Given the description of an element on the screen output the (x, y) to click on. 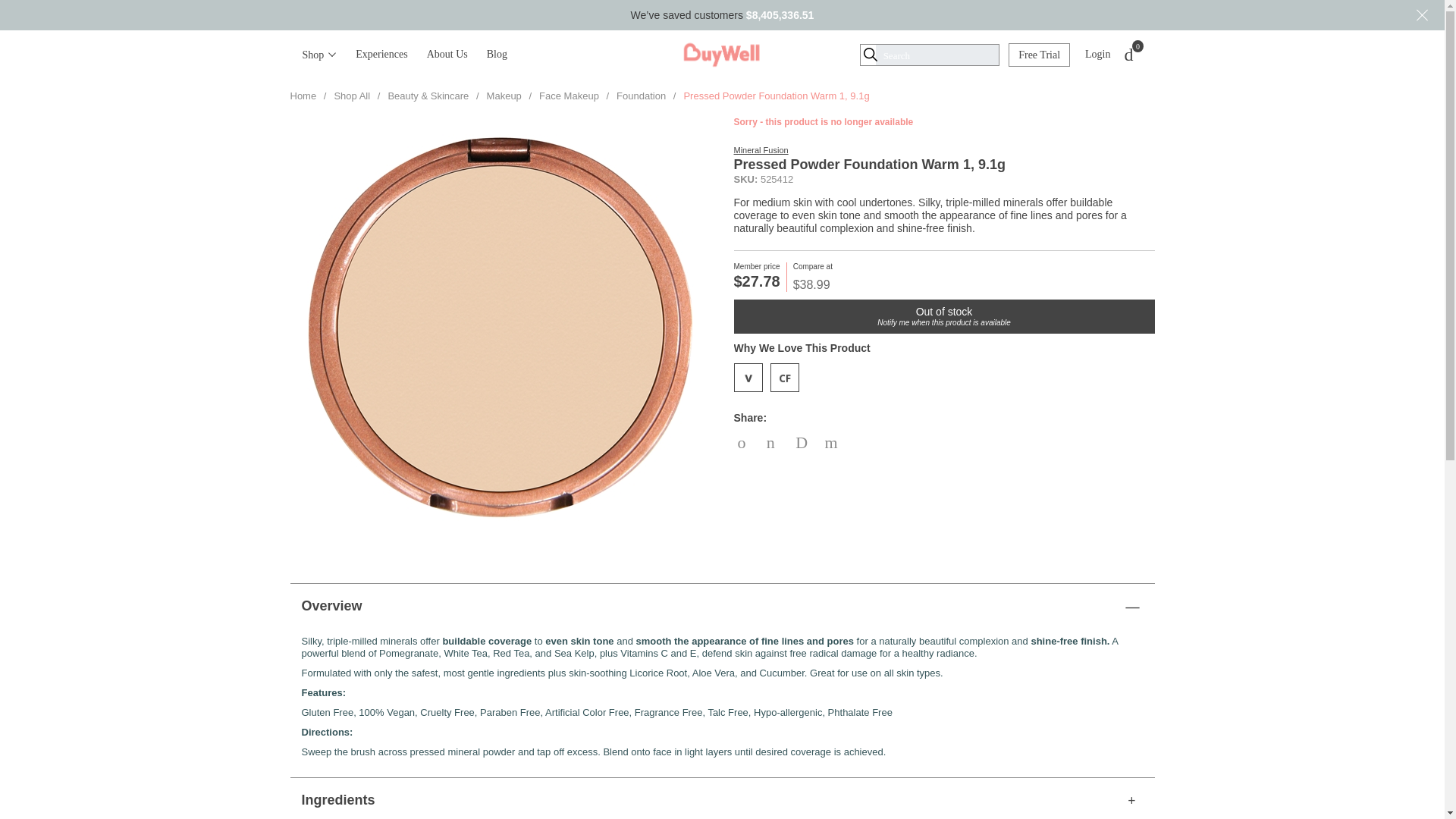
Share on Pinterest (803, 442)
Close (1421, 14)
Search (69, 11)
VEGAN (747, 377)
Login (1096, 54)
Share on Facebook (776, 442)
Share on Twitter (745, 442)
Shop (319, 54)
Cruelty Free (784, 377)
Free Trial (1128, 54)
BuyWell.com (1039, 54)
Email a friend (722, 54)
Experiences (833, 441)
